Given the description of an element on the screen output the (x, y) to click on. 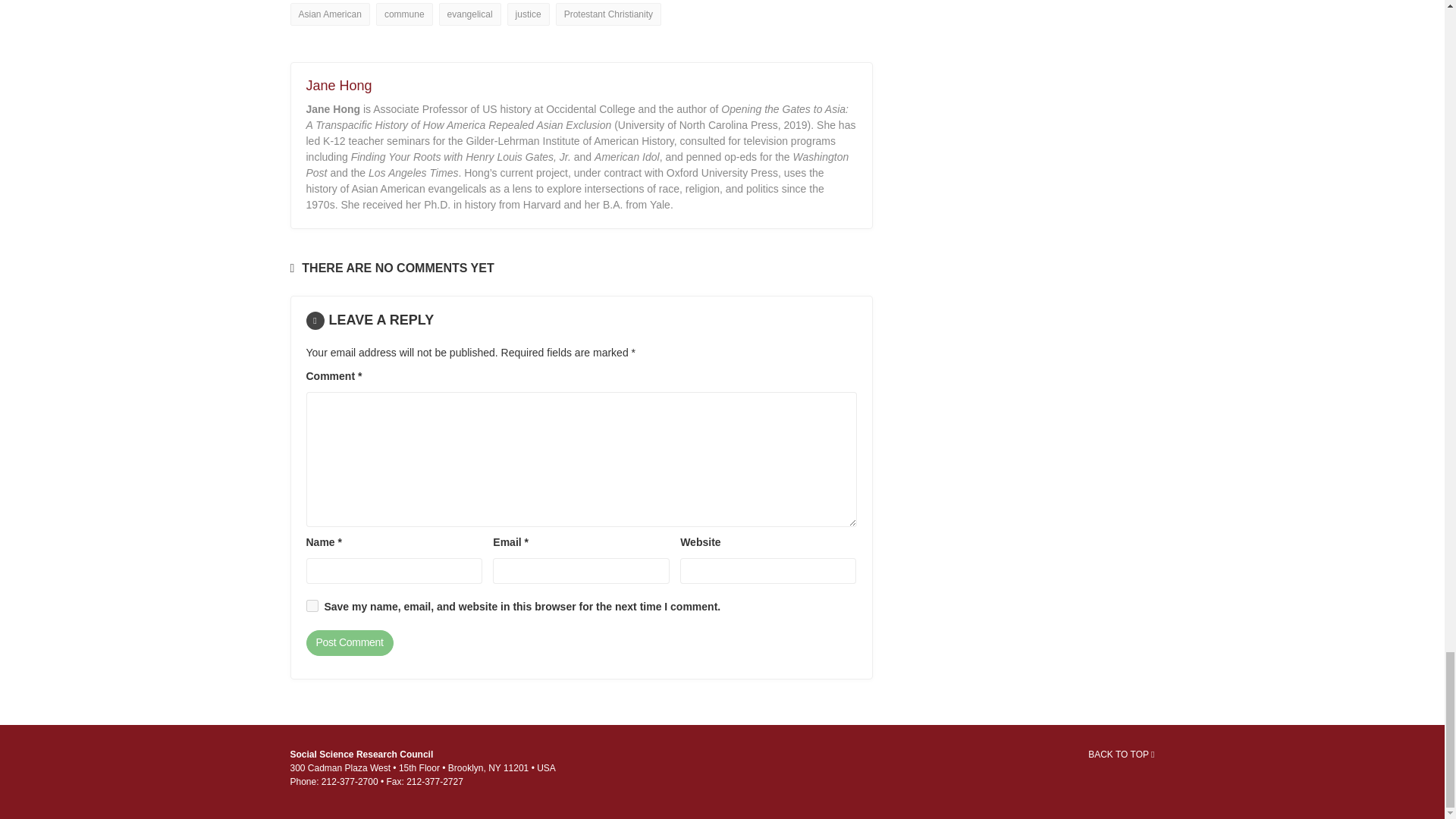
Post Comment (349, 642)
yes (311, 605)
BACK TO TOP  (1120, 754)
